Given the description of an element on the screen output the (x, y) to click on. 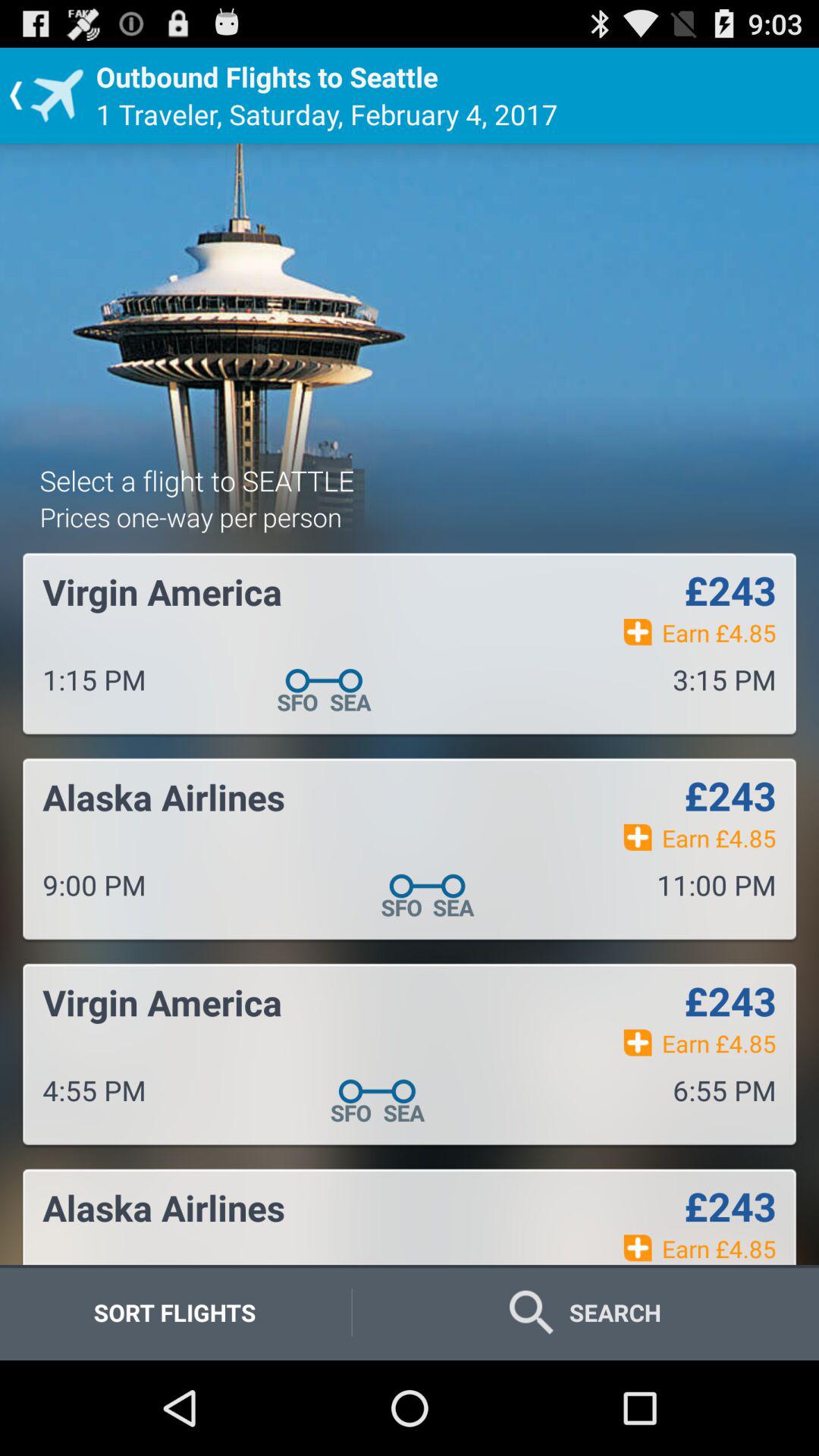
launch select a flight icon (196, 480)
